Given the description of an element on the screen output the (x, y) to click on. 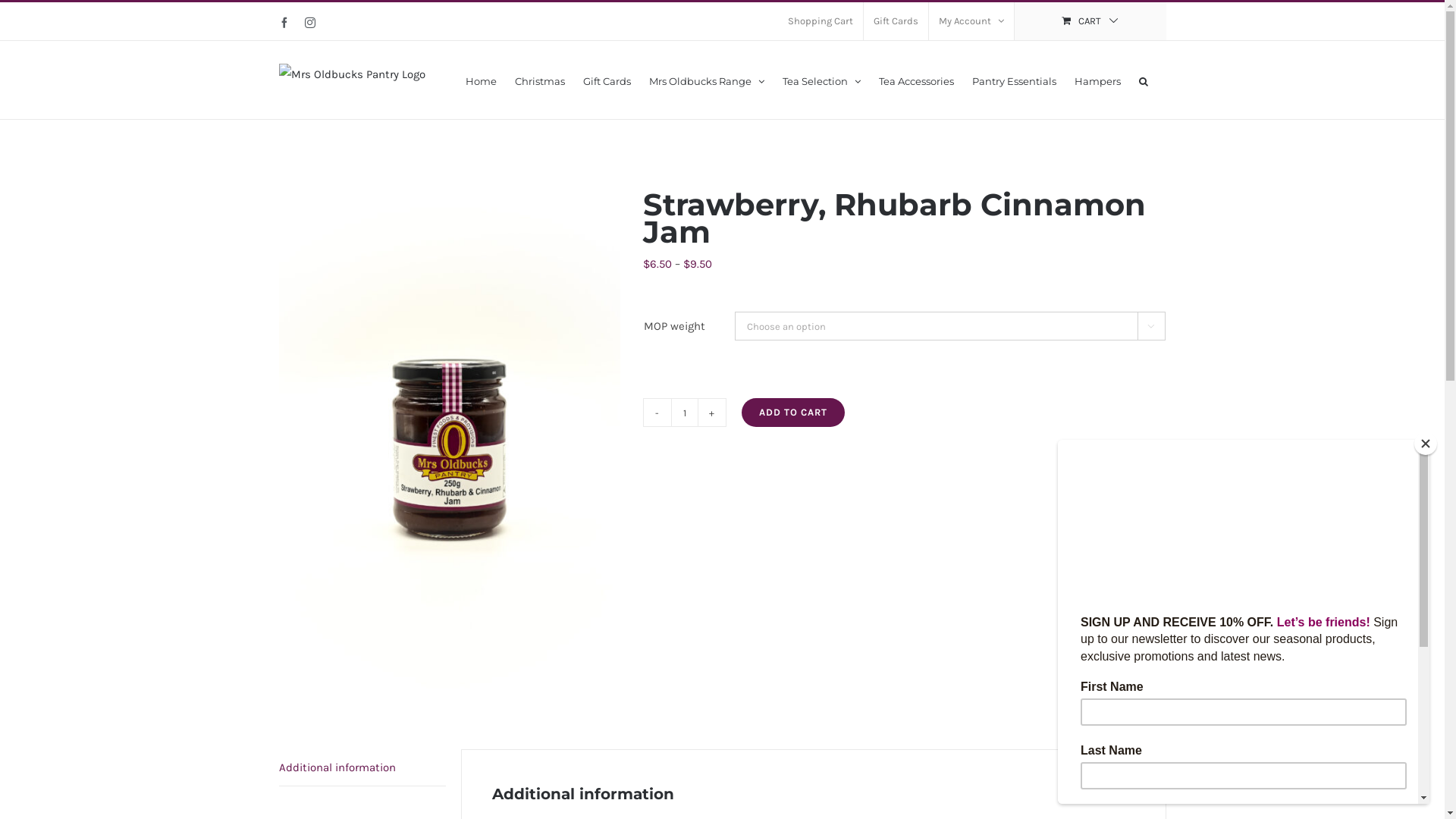
Home Element type: text (480, 79)
Pantry Essentials Element type: text (1014, 79)
MOP-53 Element type: hover (449, 447)
Tea Selection Element type: text (821, 79)
ADD TO CART Element type: text (792, 412)
Additional information Element type: text (362, 767)
Christmas Element type: text (539, 79)
My Account Element type: text (970, 21)
Gift Cards Element type: text (606, 79)
Instagram Element type: text (309, 22)
CART Element type: text (1090, 21)
Mrs Oldbucks Range Element type: text (706, 79)
Facebook Element type: text (284, 22)
Gift Cards Element type: text (894, 21)
Shopping Cart Element type: text (820, 21)
Hampers Element type: text (1096, 79)
Tea Accessories Element type: text (915, 79)
Log In Element type: text (1032, 165)
Search Element type: hover (1143, 79)
